Given the description of an element on the screen output the (x, y) to click on. 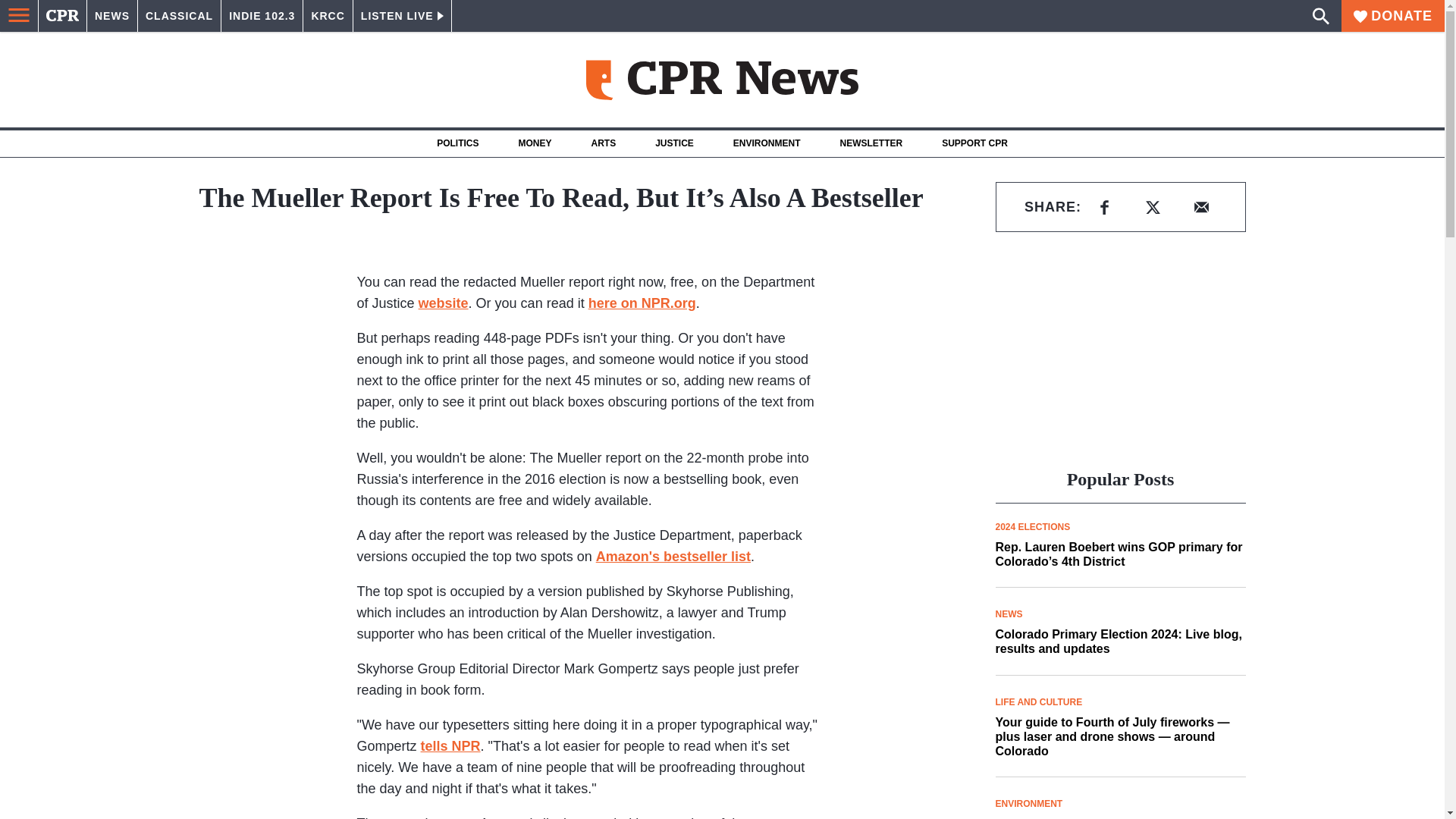
CLASSICAL (179, 15)
LISTEN LIVE (402, 15)
NEWS (111, 15)
INDIE 102.3 (261, 15)
KRCC (327, 15)
